Given the description of an element on the screen output the (x, y) to click on. 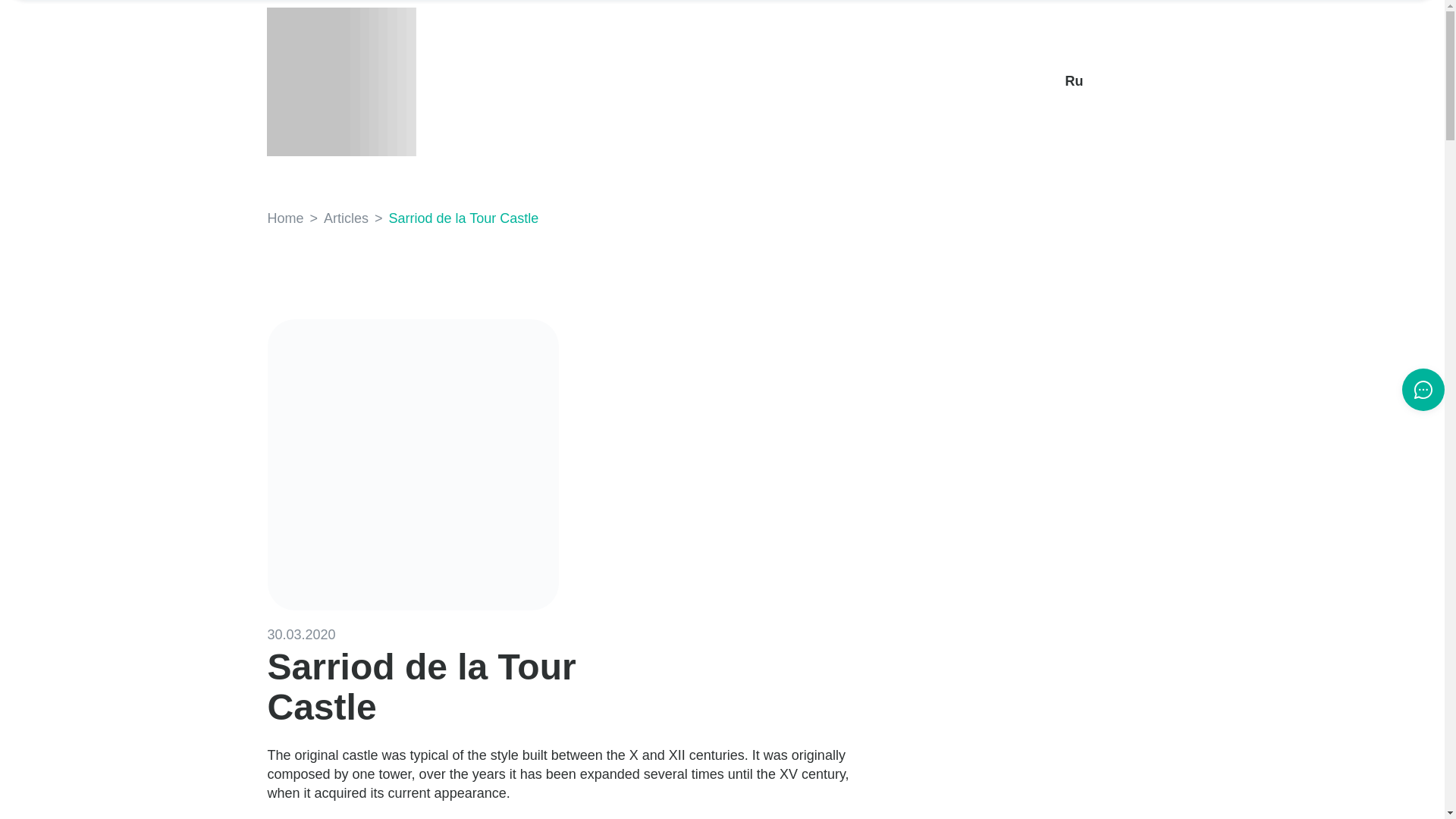
Ru (1073, 81)
Articles (345, 218)
Home (284, 218)
